Given the description of an element on the screen output the (x, y) to click on. 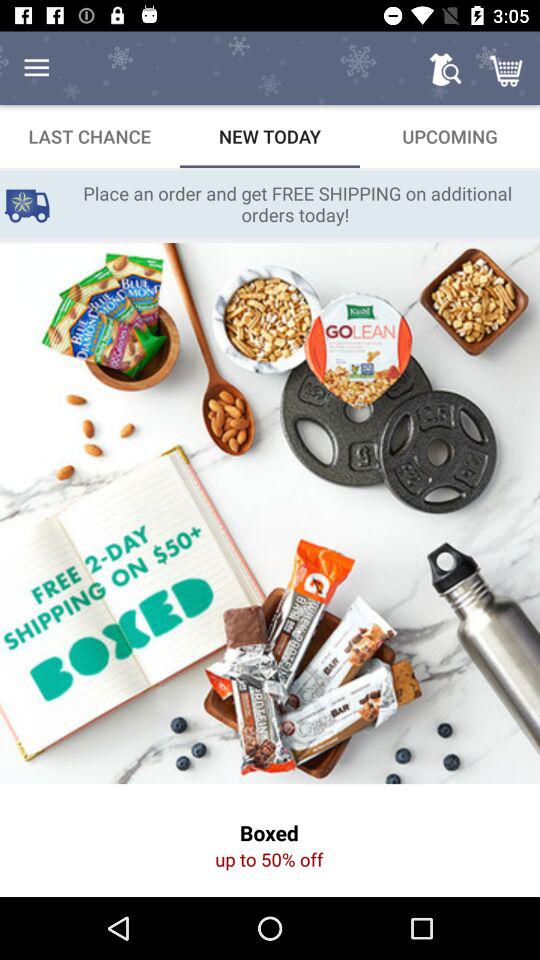
open item above upcoming item (508, 67)
